Given the description of an element on the screen output the (x, y) to click on. 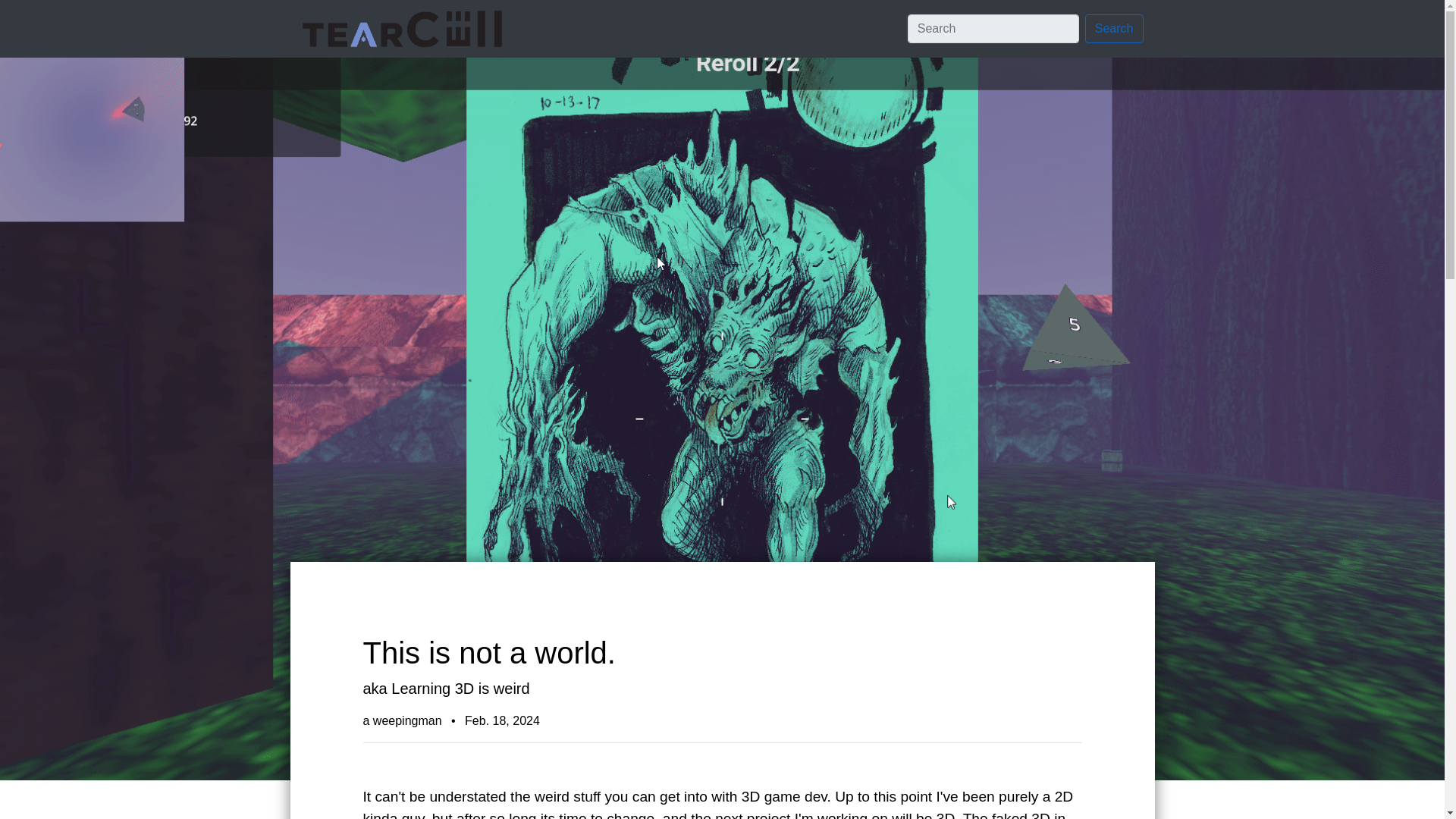
Search (1113, 28)
